Given the description of an element on the screen output the (x, y) to click on. 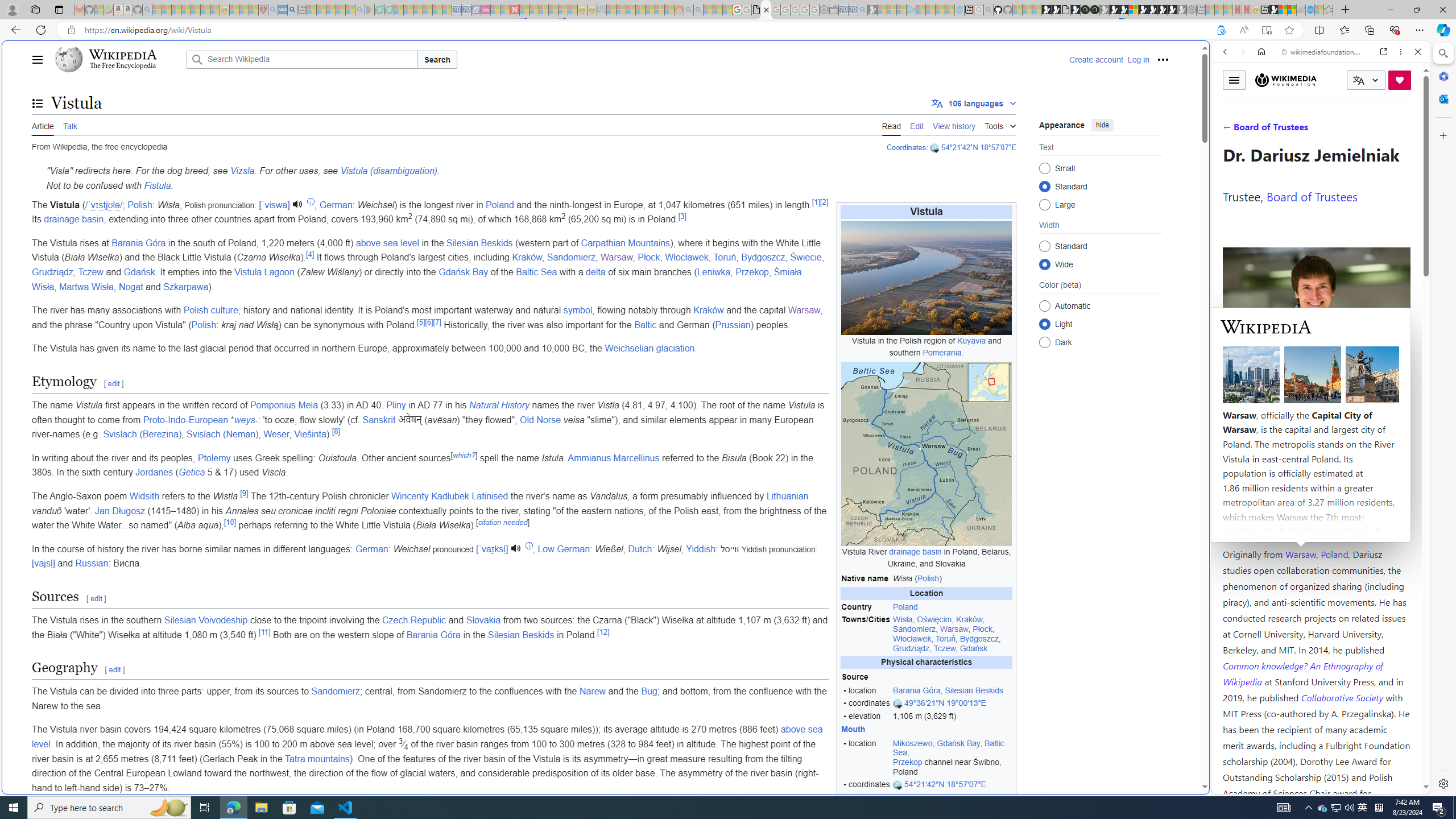
Close split screen (1208, 57)
DITOGAMES AG Imprint - Sleeping (601, 9)
Trusted Community Engagement and Contributions | Guidelines (524, 9)
Kuyavia (970, 340)
To get missing image descriptions, open the context menu. (926, 277)
Profile on Meta-Wiki (1273, 405)
Microsoft account | Privacy - Sleeping (901, 9)
View history (954, 124)
Utah sues federal government - Search - Sleeping (697, 9)
